Given the description of an element on the screen output the (x, y) to click on. 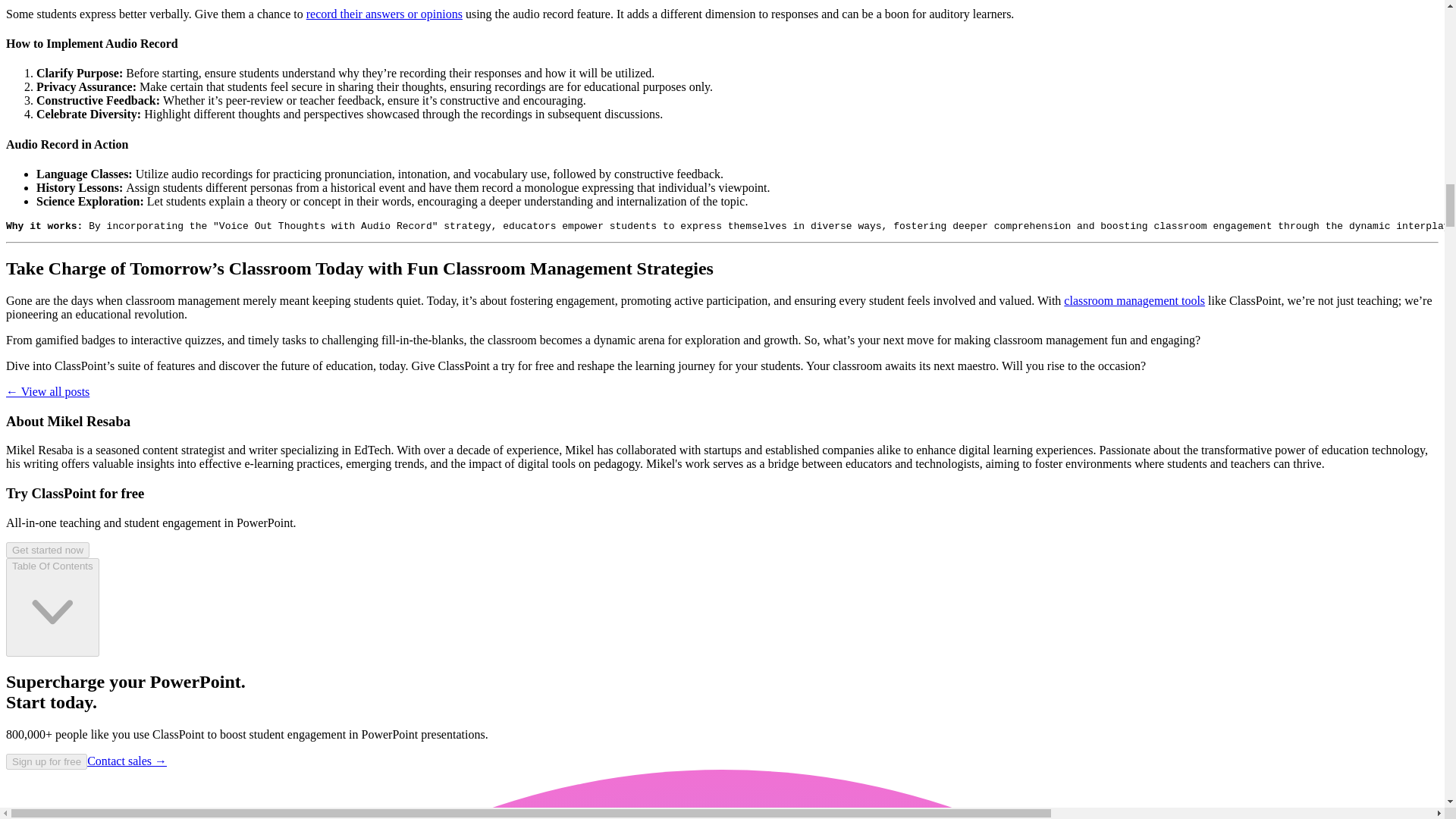
Get started now (46, 549)
Sign up for free (46, 760)
Get started now (46, 549)
record their answers or opinions (384, 13)
classroom management tools (1134, 300)
Table Of Contents (52, 607)
